Given the description of an element on the screen output the (x, y) to click on. 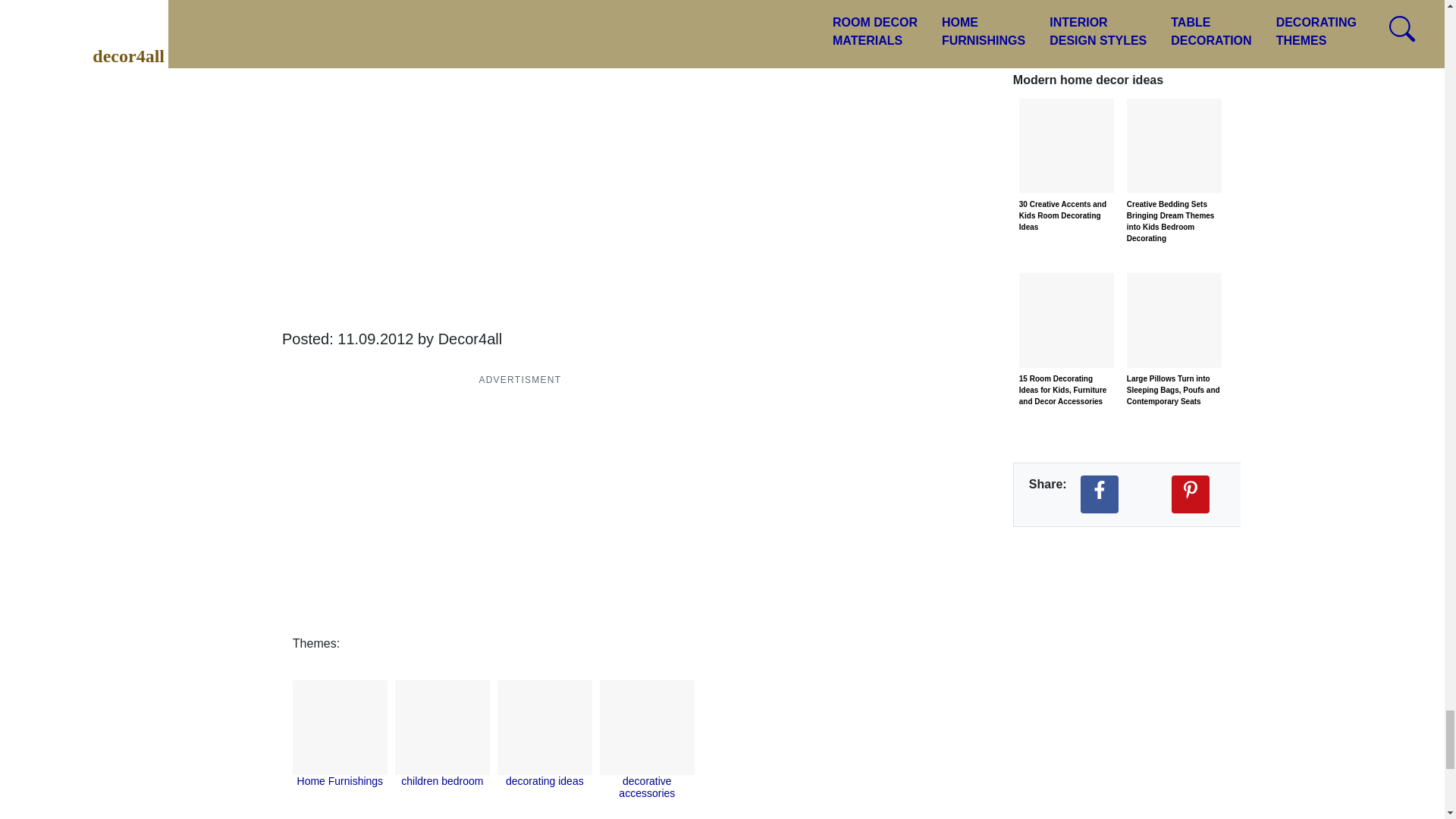
Home Furnishings (340, 780)
decorative accessories (646, 786)
children bedroom (442, 780)
decorating ideas (544, 780)
